Given the description of an element on the screen output the (x, y) to click on. 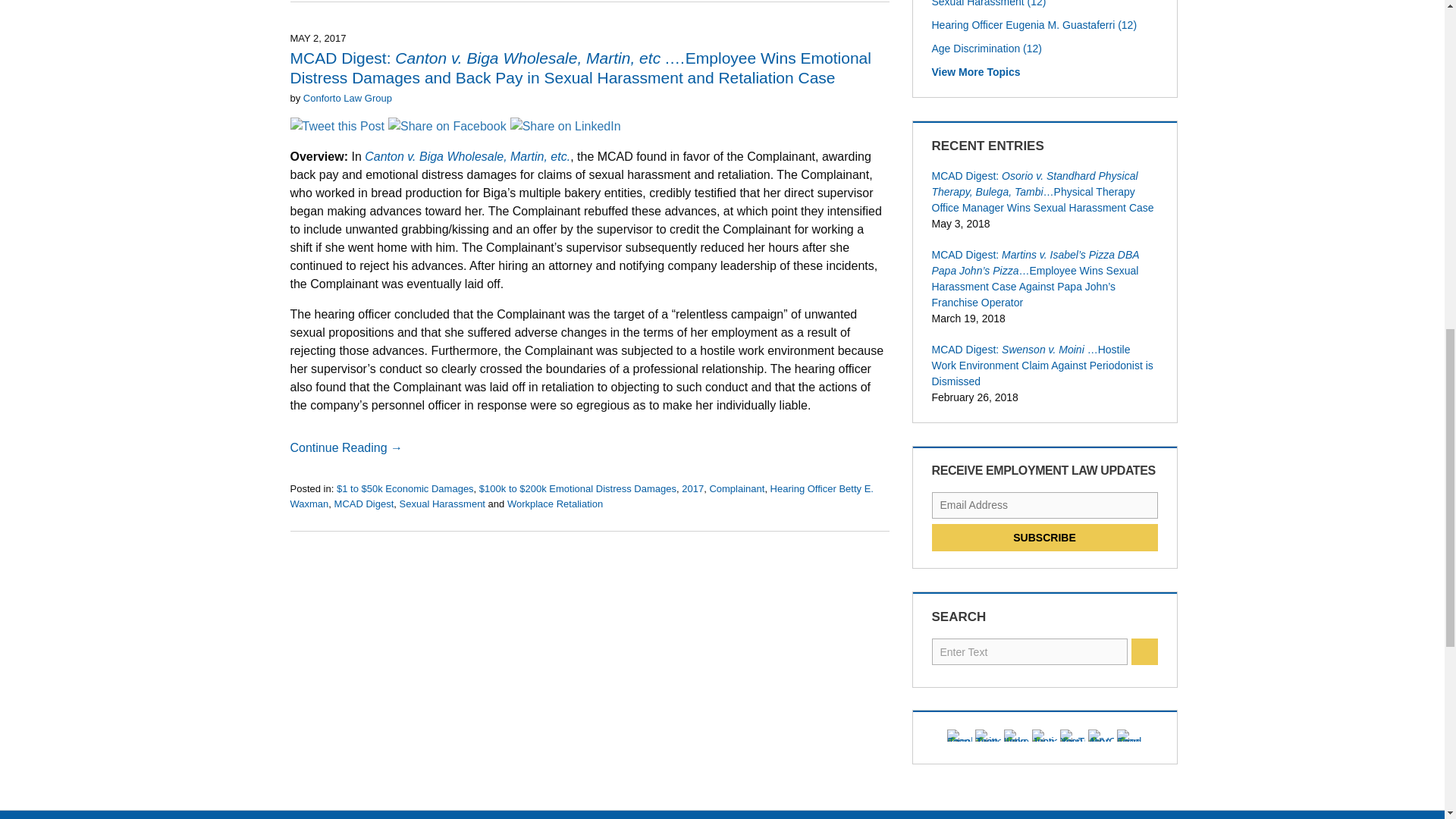
Canton v. Biga Wholesale, Martin, etc. (467, 155)
View all posts in 2017 (692, 488)
Conforto Law Group (346, 98)
